Given the description of an element on the screen output the (x, y) to click on. 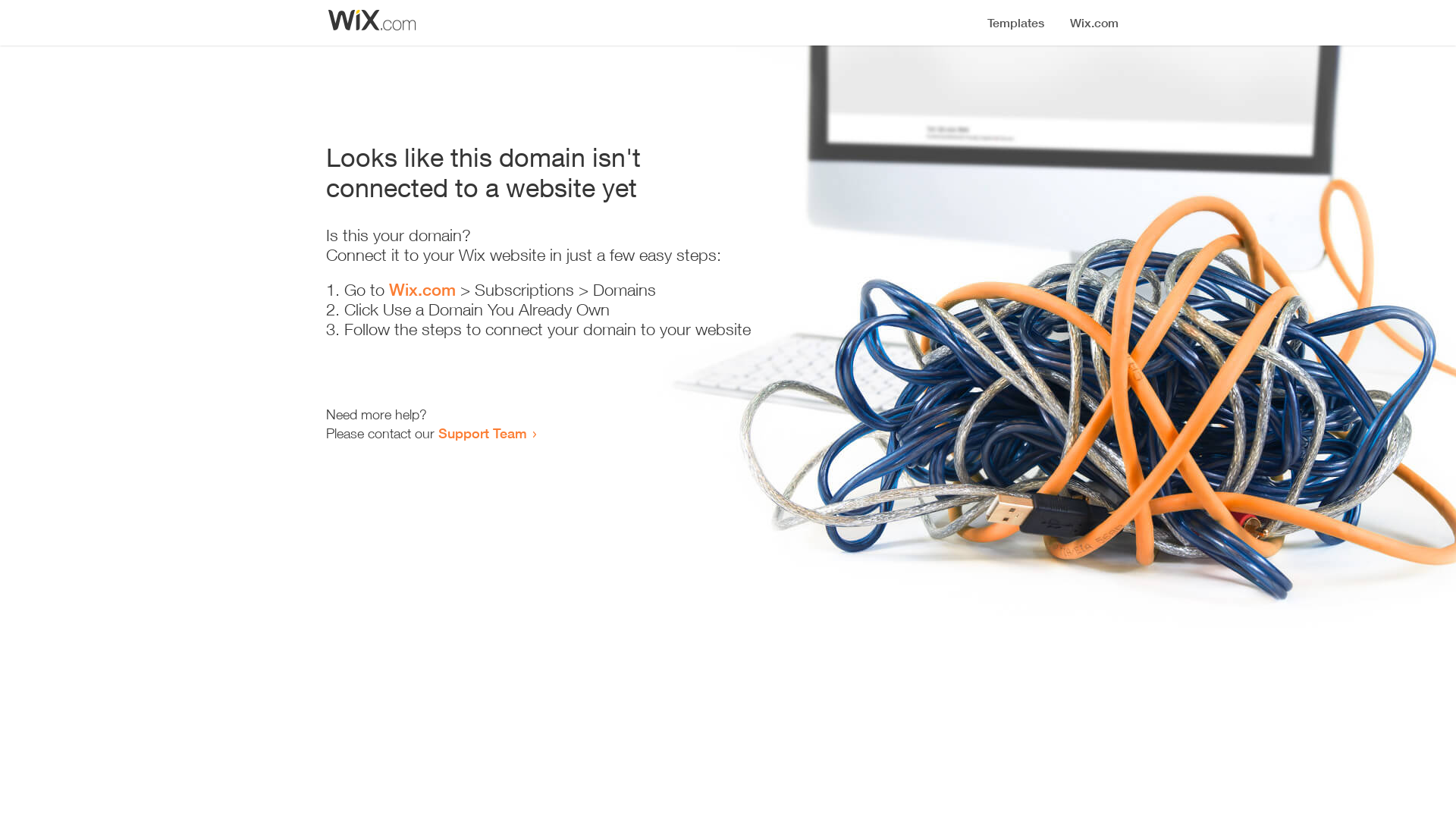
Support Team Element type: text (482, 432)
Wix.com Element type: text (422, 289)
